Given the description of an element on the screen output the (x, y) to click on. 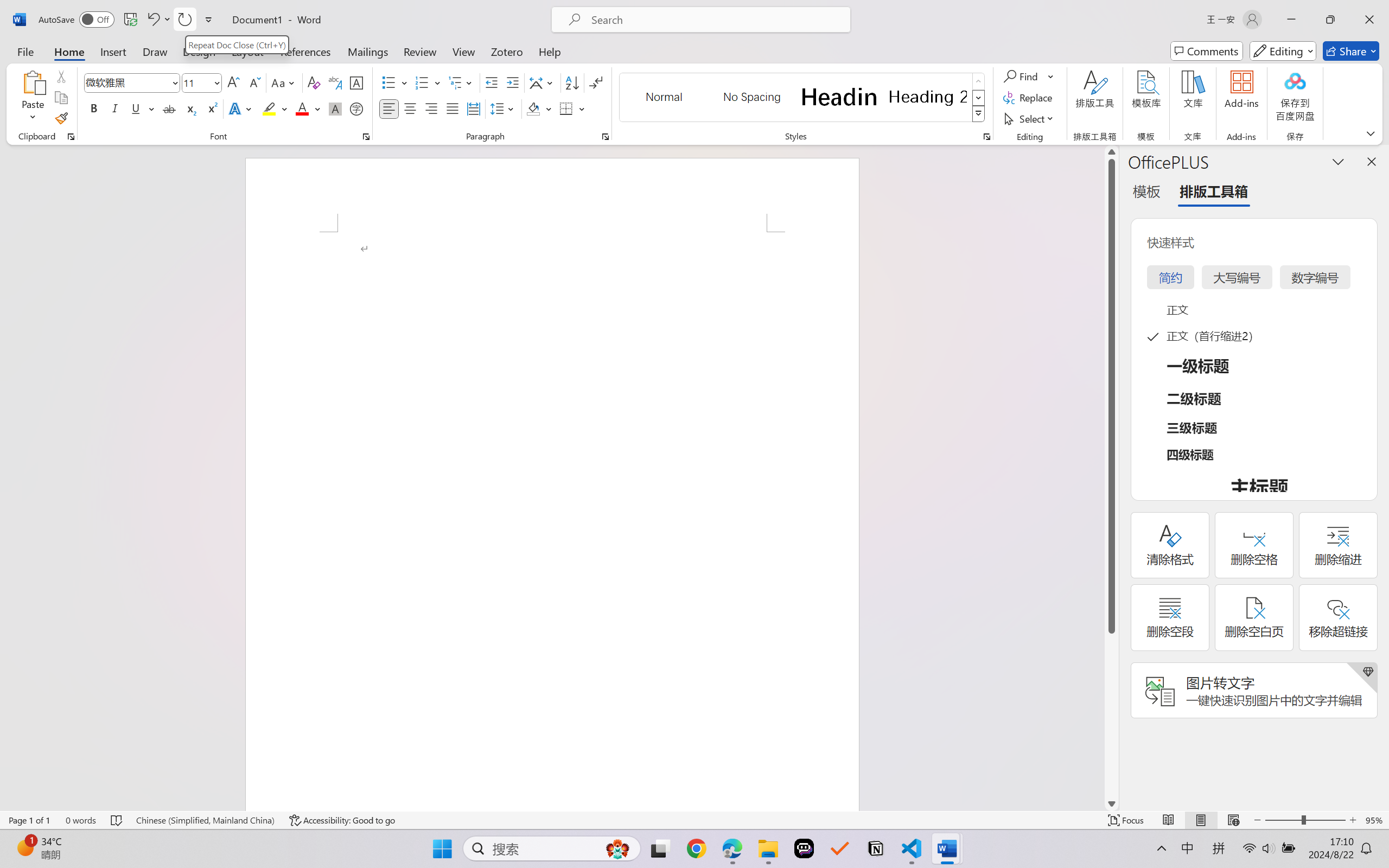
Language Chinese (Simplified, Mainland China) (205, 819)
